Given the description of an element on the screen output the (x, y) to click on. 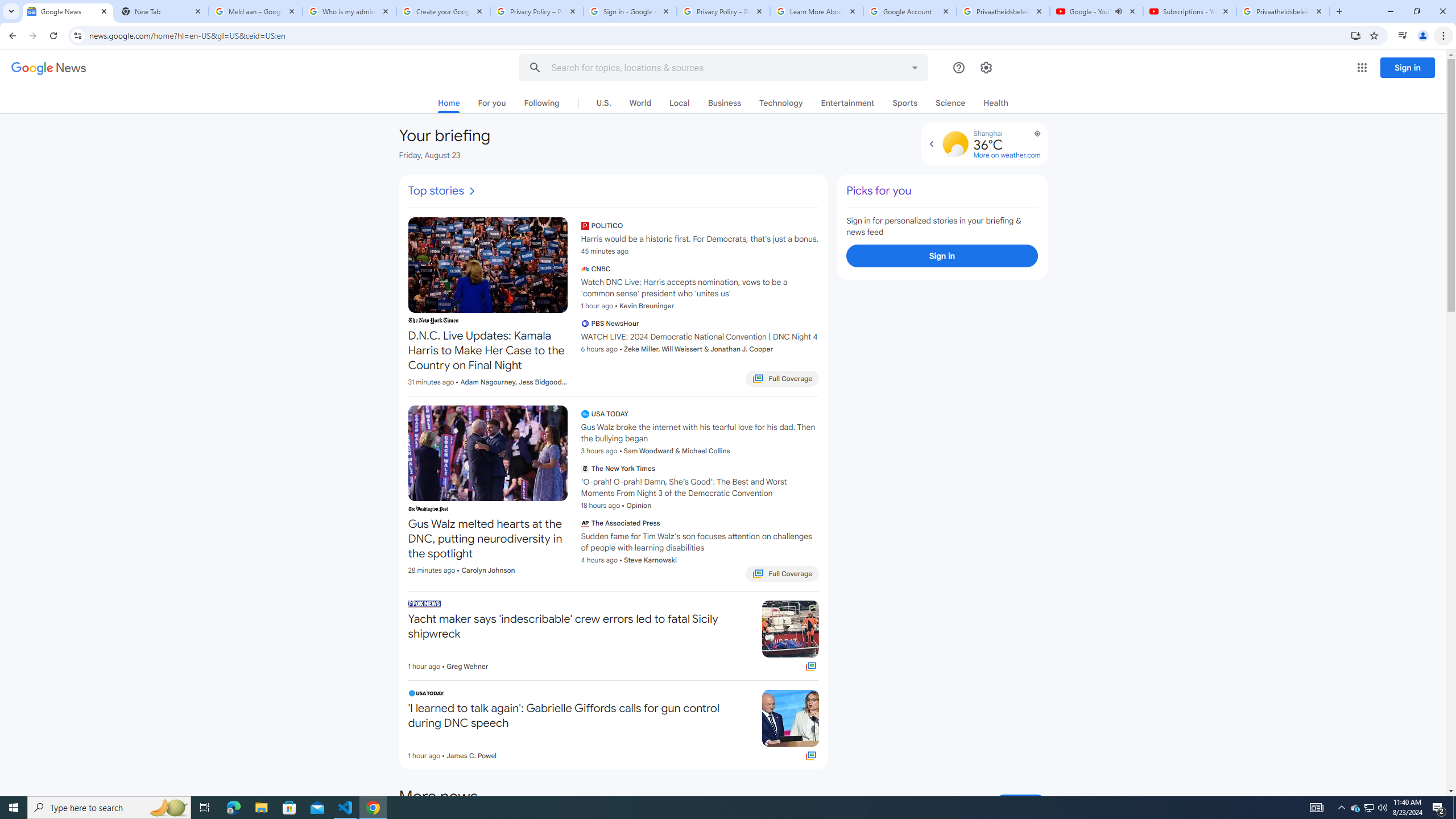
Entertainment (848, 102)
Sign in - Google Accounts (629, 11)
Google - YouTube - Audio playing (1096, 11)
Technology (780, 102)
